Given the description of an element on the screen output the (x, y) to click on. 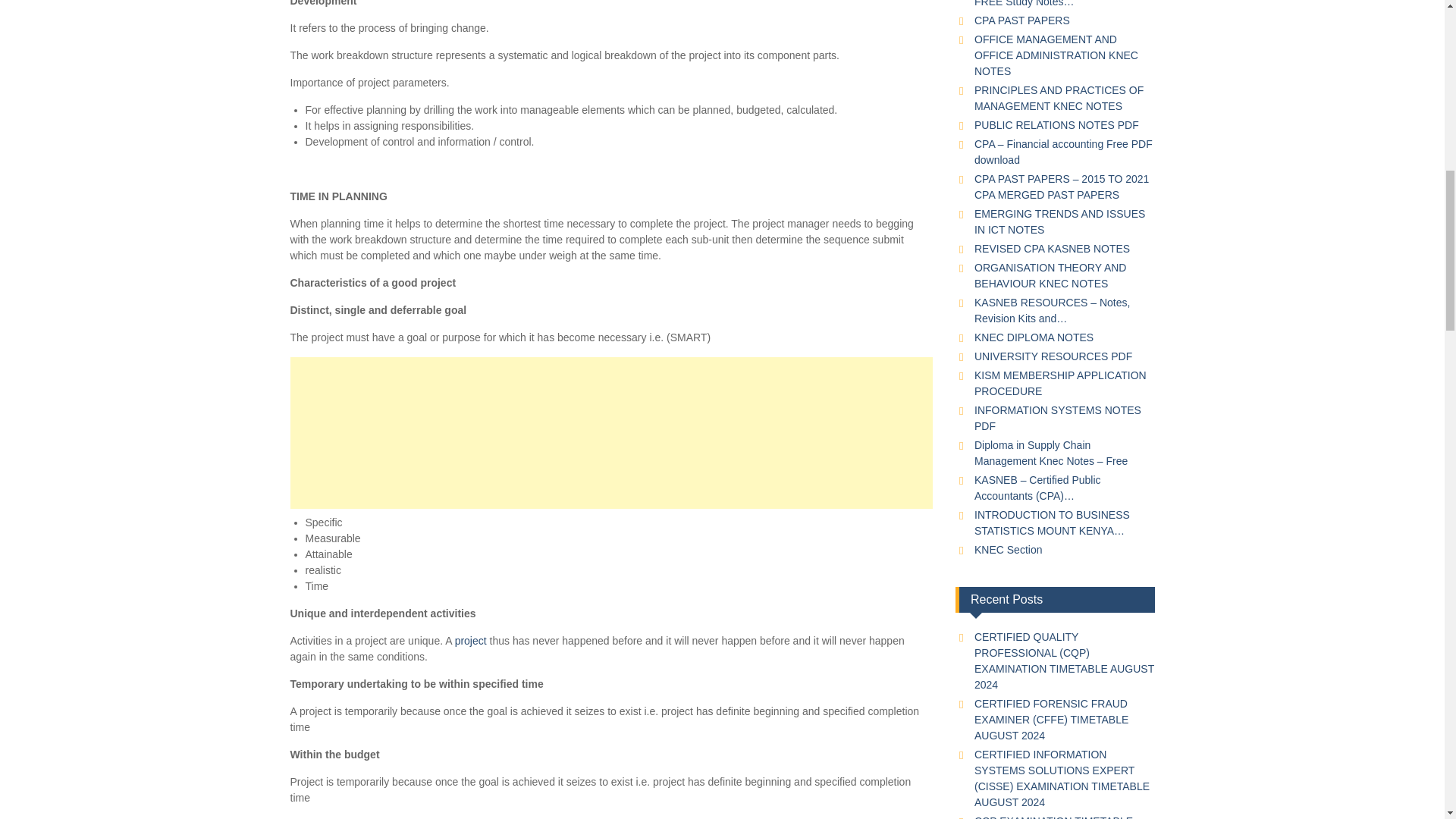
project (470, 639)
OFFICE MANAGEMENT AND OFFICE ADMINISTRATION KNEC NOTES (1056, 54)
CPA PAST PAPERS (1022, 20)
